Given the description of an element on the screen output the (x, y) to click on. 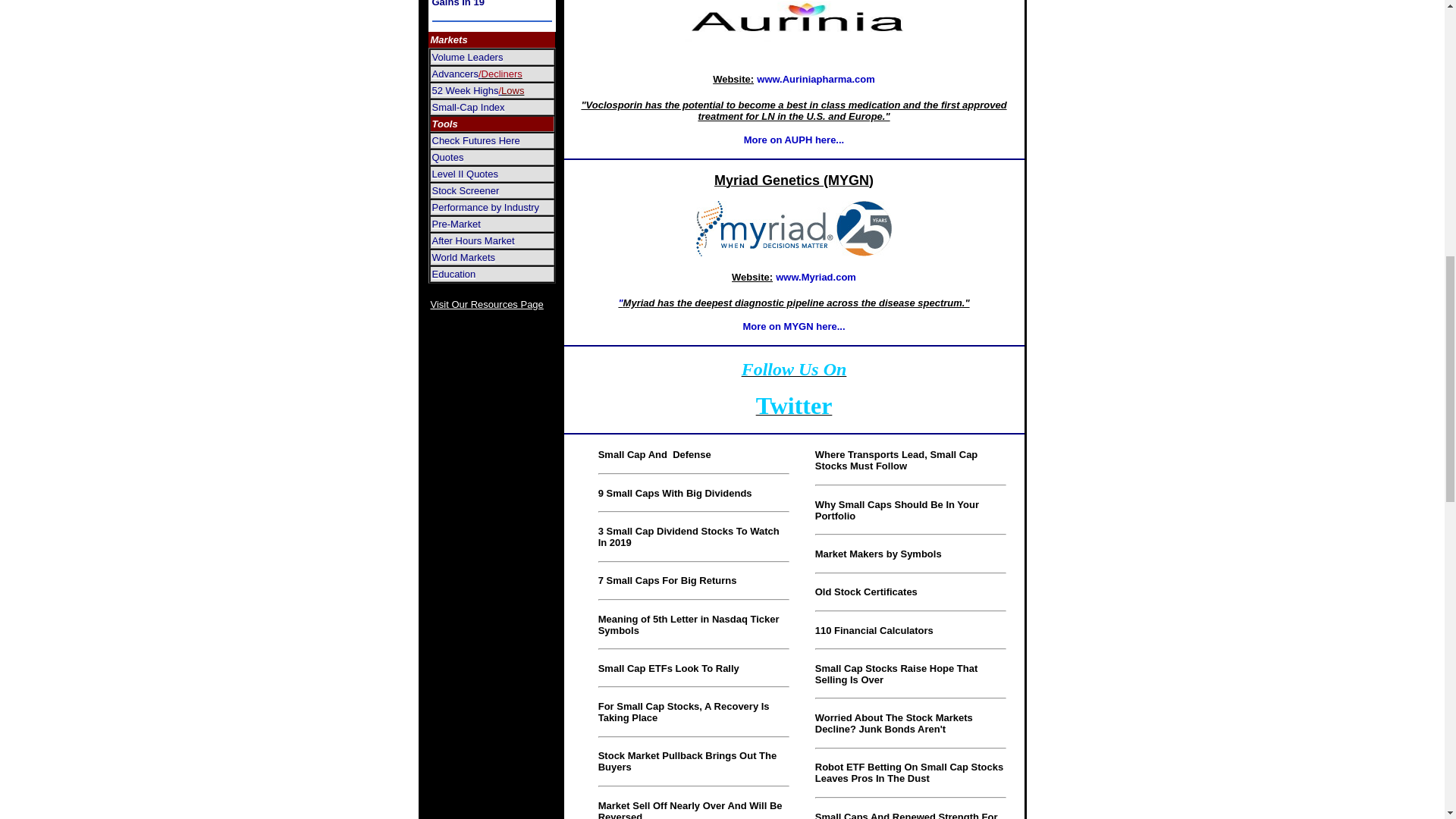
After Hours Market (473, 239)
Visit Our Resources Page (486, 303)
Check Futures Here (475, 139)
Volume Leaders (467, 56)
Advancers (455, 73)
Stock Screener (465, 189)
Education (454, 273)
Small-Cap Index (468, 106)
Level II Quotes (464, 173)
It's Time To Buy Small Cap Losers Of 18 For Gains In 19 (483, 4)
